Given the description of an element on the screen output the (x, y) to click on. 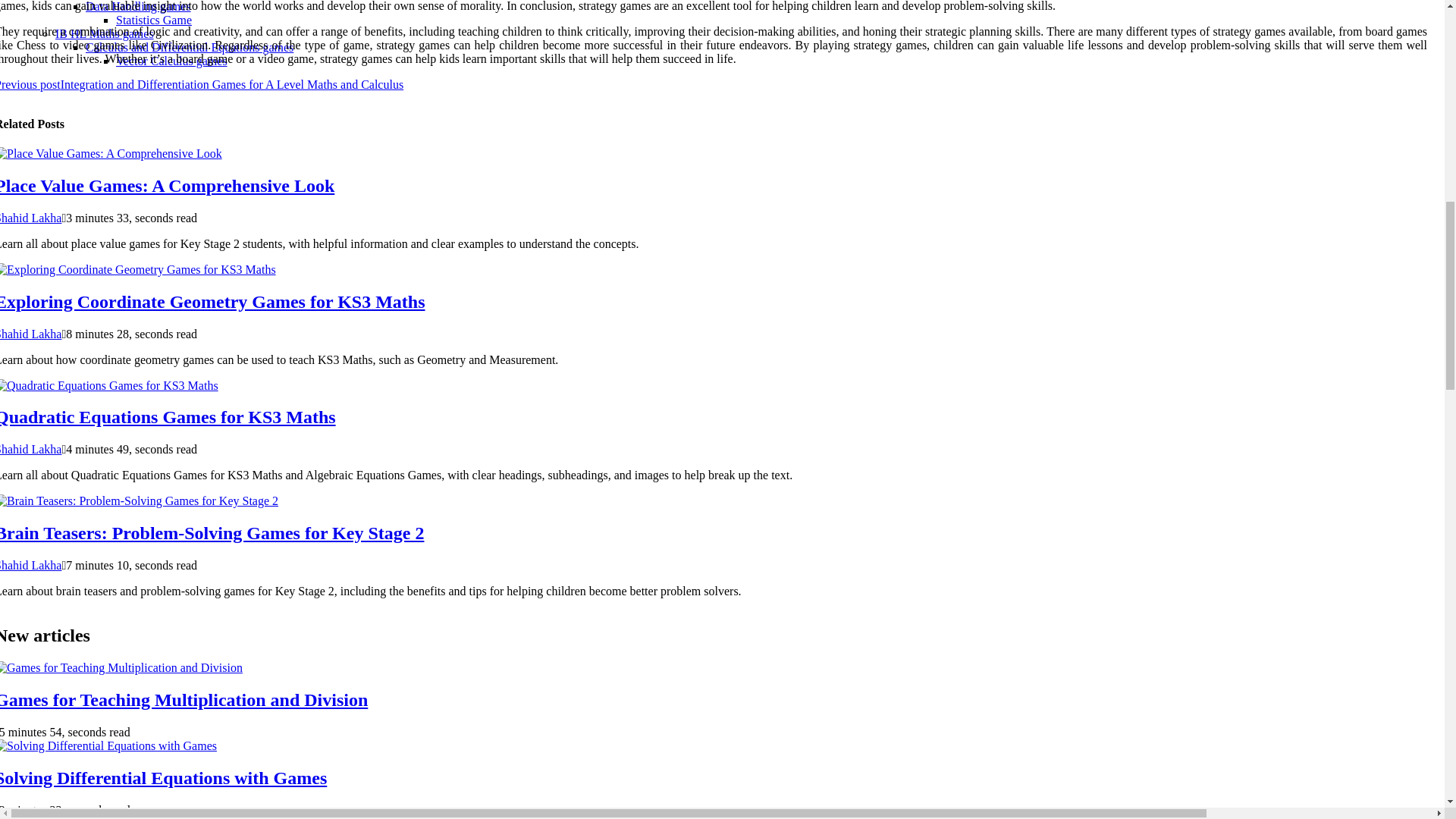
Posts by Shahid Lakha (30, 564)
Posts by Shahid Lakha (30, 217)
Posts by Shahid Lakha (30, 333)
Posts by Shahid Lakha (30, 449)
